Given the description of an element on the screen output the (x, y) to click on. 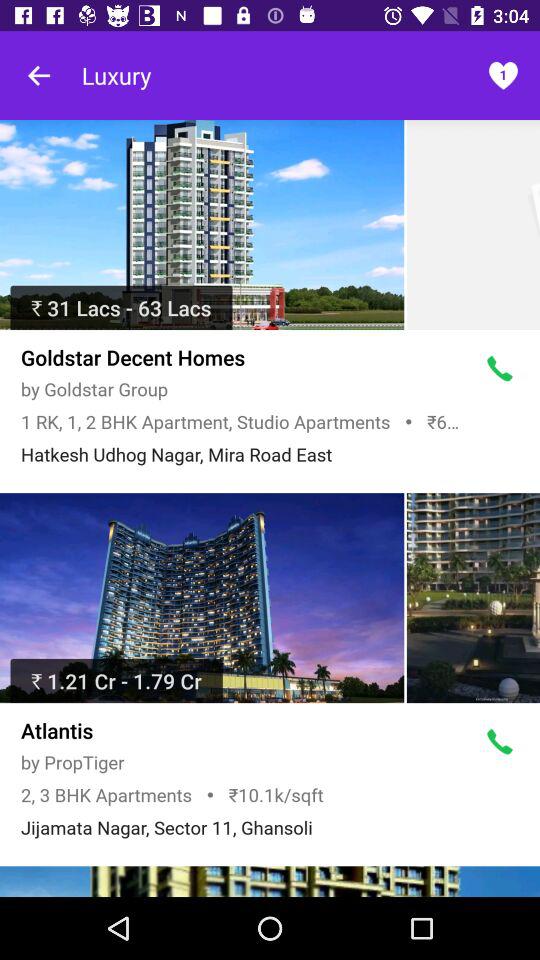
picture of hotels (473, 598)
